Given the description of an element on the screen output the (x, y) to click on. 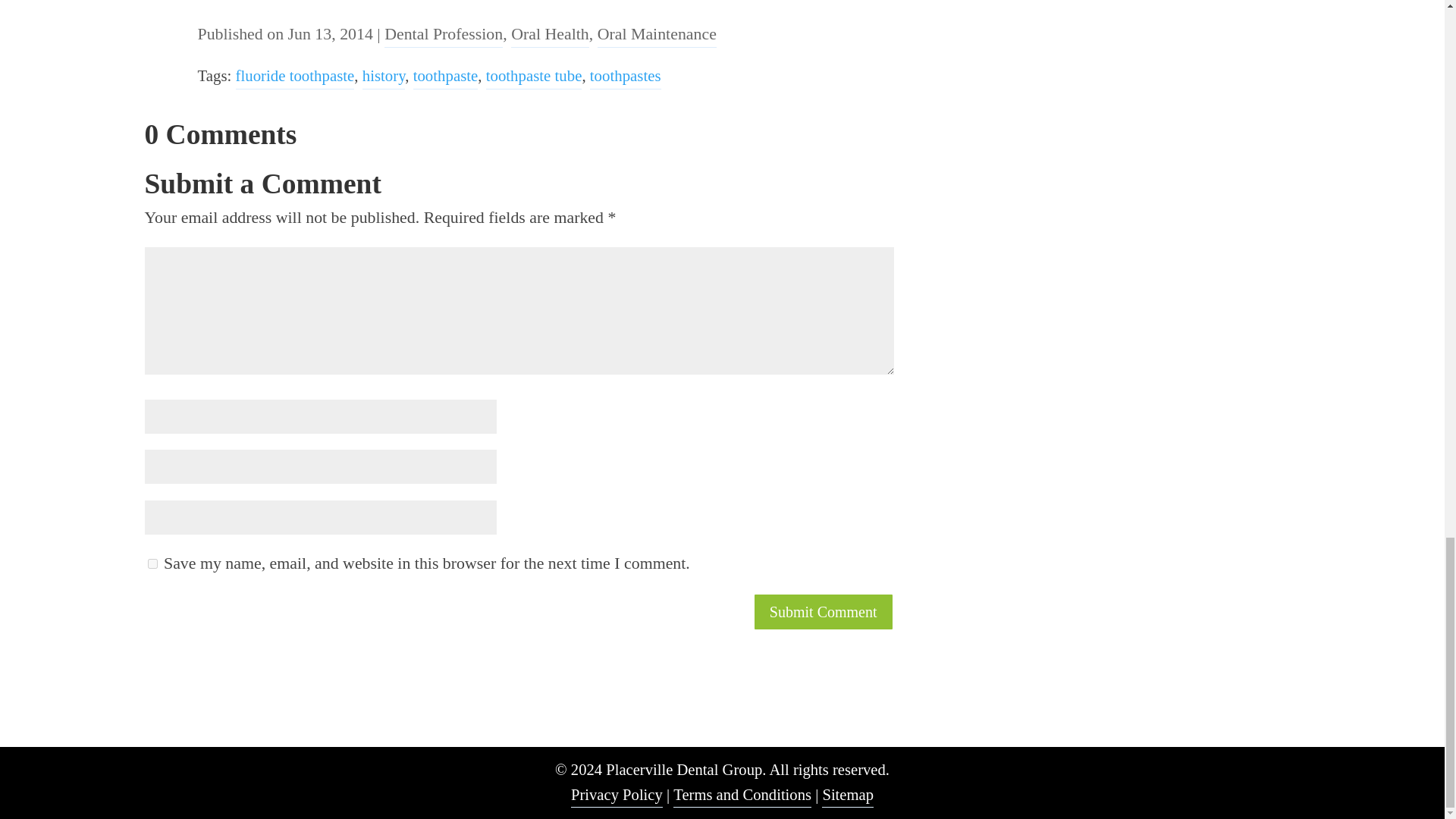
yes (152, 563)
